Given the description of an element on the screen output the (x, y) to click on. 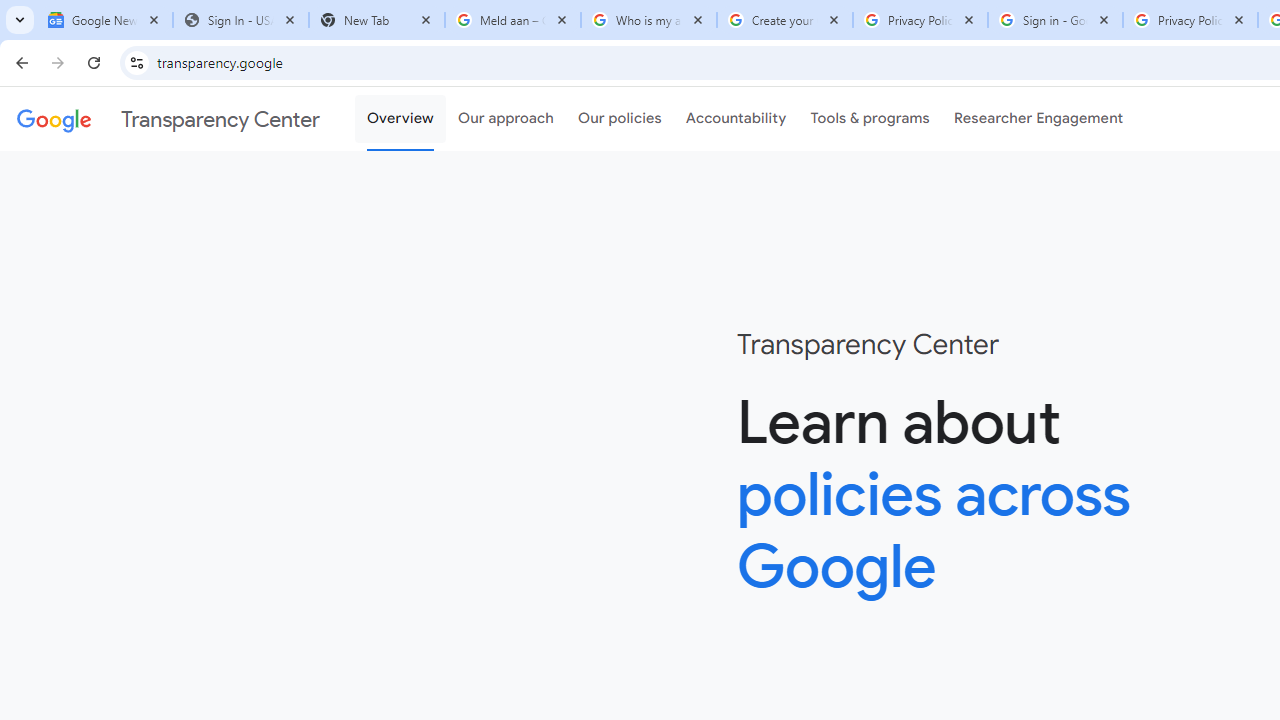
Sign In - USA TODAY (240, 20)
Create your Google Account (784, 20)
New Tab (376, 20)
Who is my administrator? - Google Account Help (648, 20)
Sign in - Google Accounts (1055, 20)
Transparency Center (167, 119)
Google News (104, 20)
Our approach (506, 119)
Accountability (735, 119)
